Given the description of an element on the screen output the (x, y) to click on. 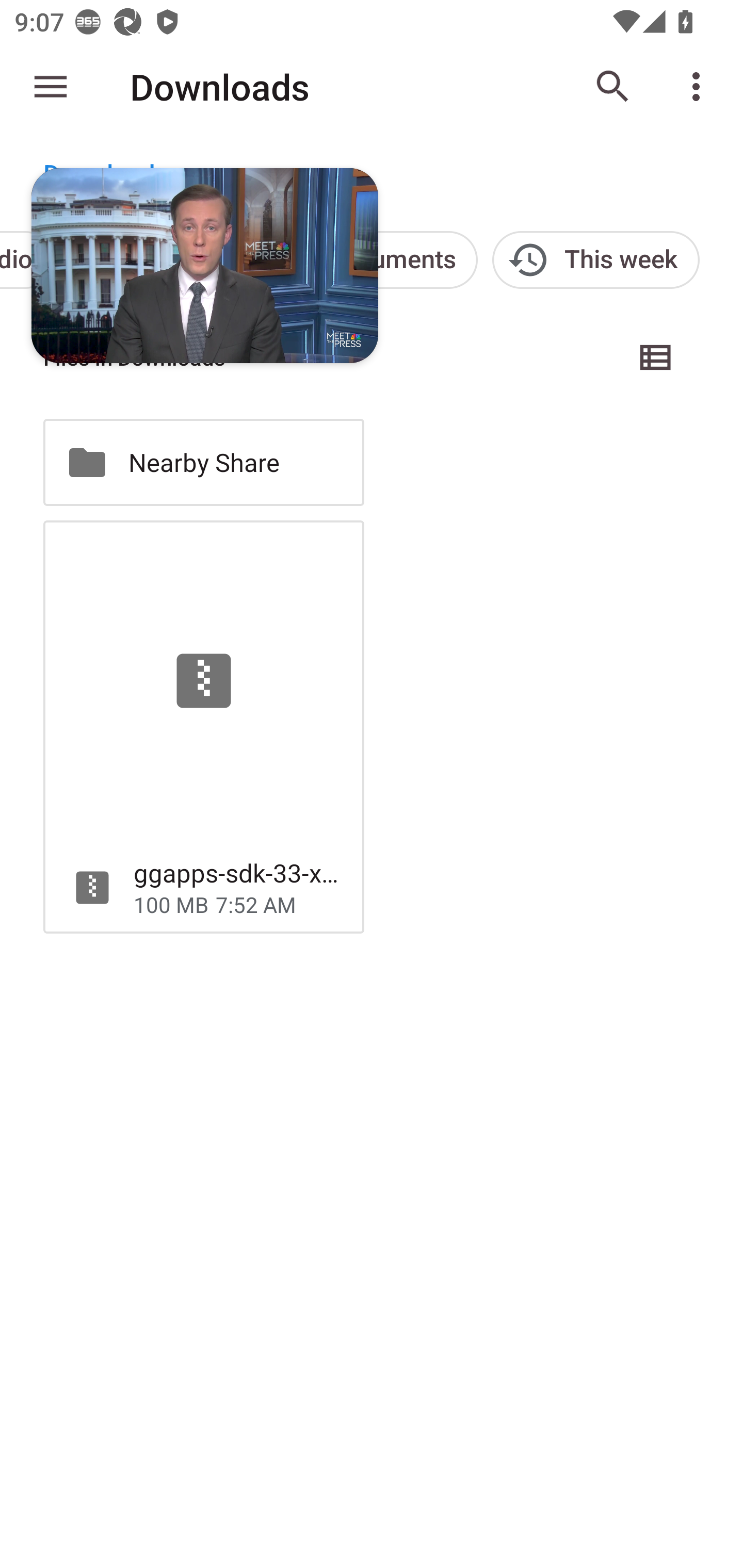
Show roots (50, 86)
Search (612, 86)
More options (699, 86)
This week (595, 259)
List view (655, 357)
Nearby Share (203, 462)
ggapps-sdk-33-x86_64-20231003.zip 100 MB 7:52 AM (203, 726)
